Given the description of an element on the screen output the (x, y) to click on. 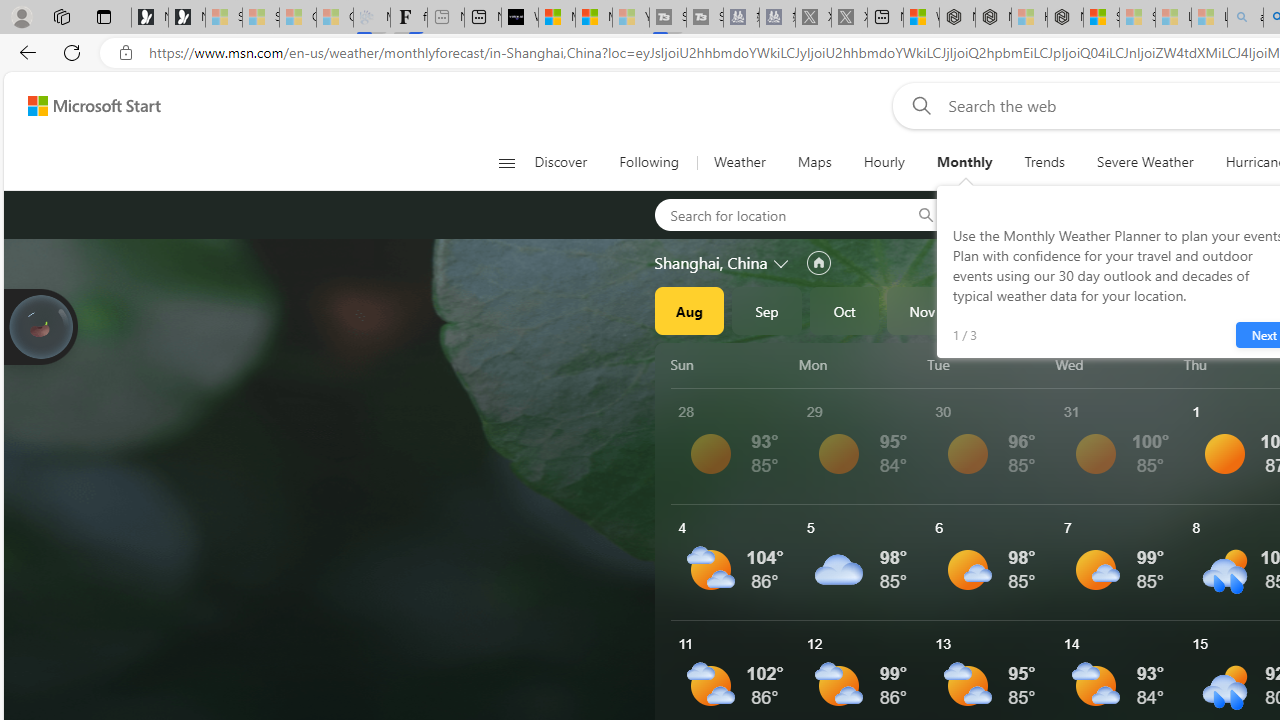
Hourly (883, 162)
Trends (1044, 162)
Aug (689, 310)
Trends (1044, 162)
Sun (731, 363)
Dec (1000, 310)
Nordace - Nordace Siena Is Not An Ordinary Backpack (1065, 17)
